Given the description of an element on the screen output the (x, y) to click on. 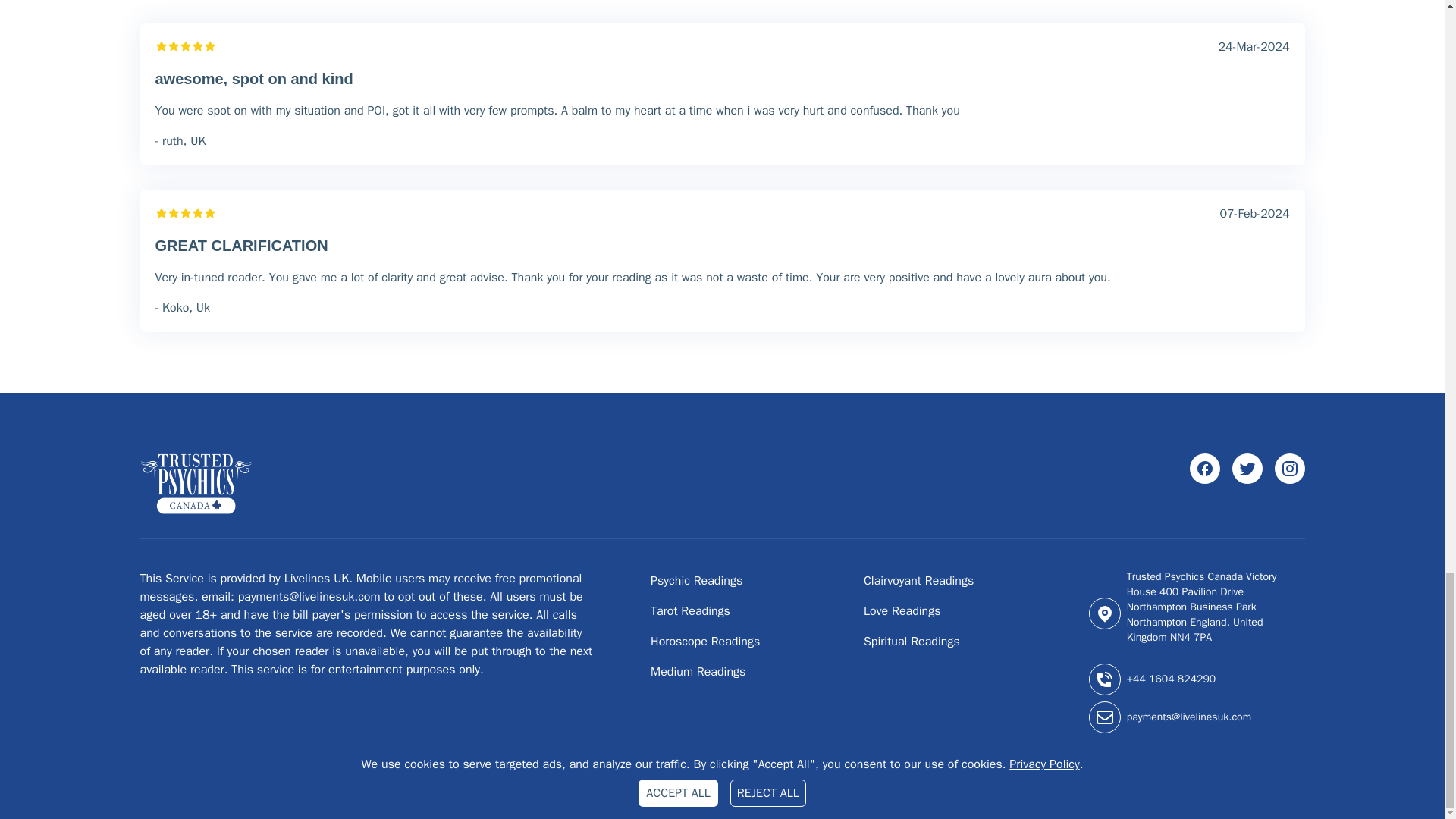
Psychic Readings (696, 580)
Spiritual Readings (911, 641)
Clairvoyant Readings (918, 580)
Horoscope Readings (705, 641)
Medium Readings (697, 671)
Love Readings (901, 611)
Tarot Readings (690, 611)
